Given the description of an element on the screen output the (x, y) to click on. 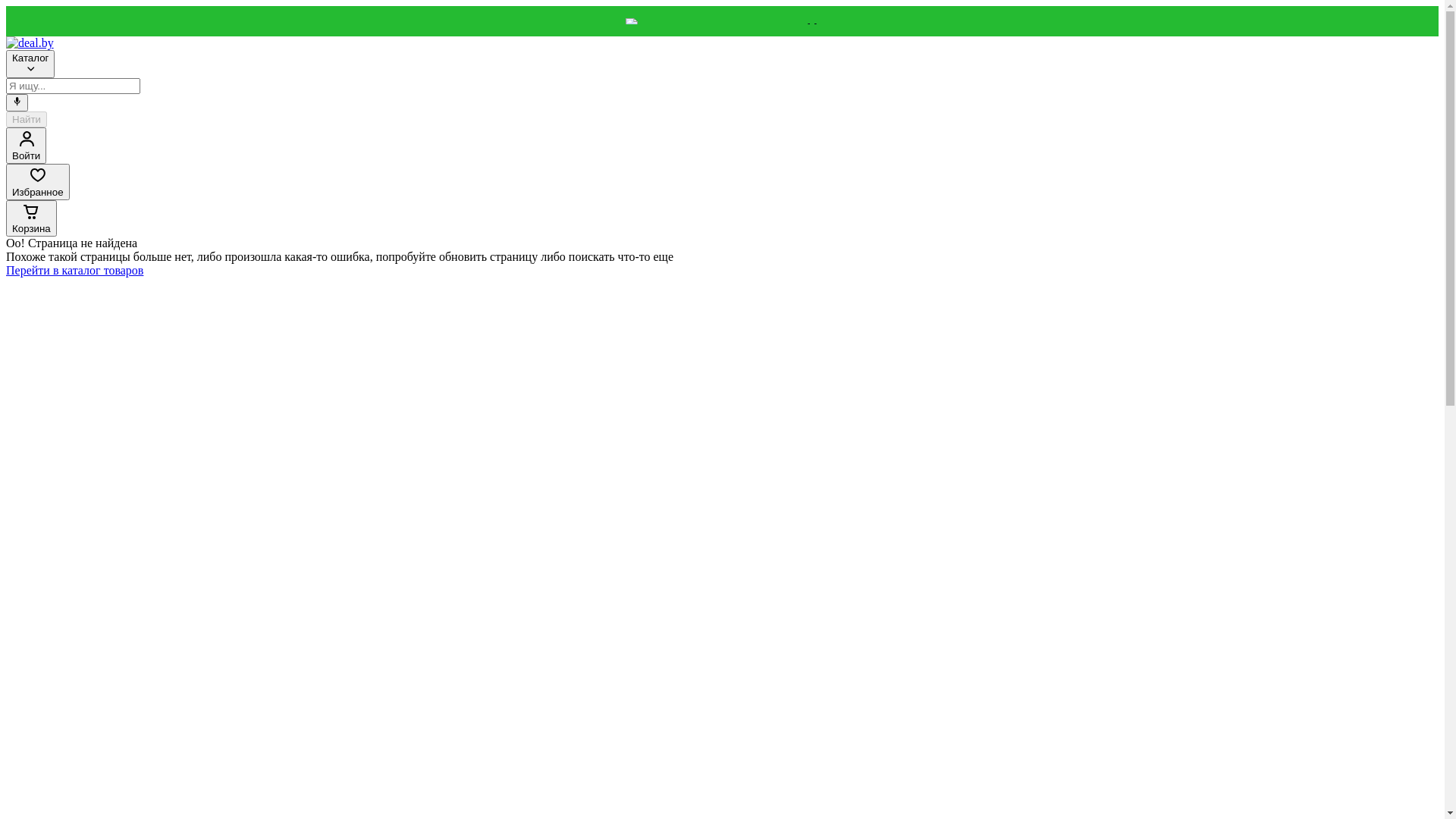
deal.by Element type: hover (29, 42)
